Given the description of an element on the screen output the (x, y) to click on. 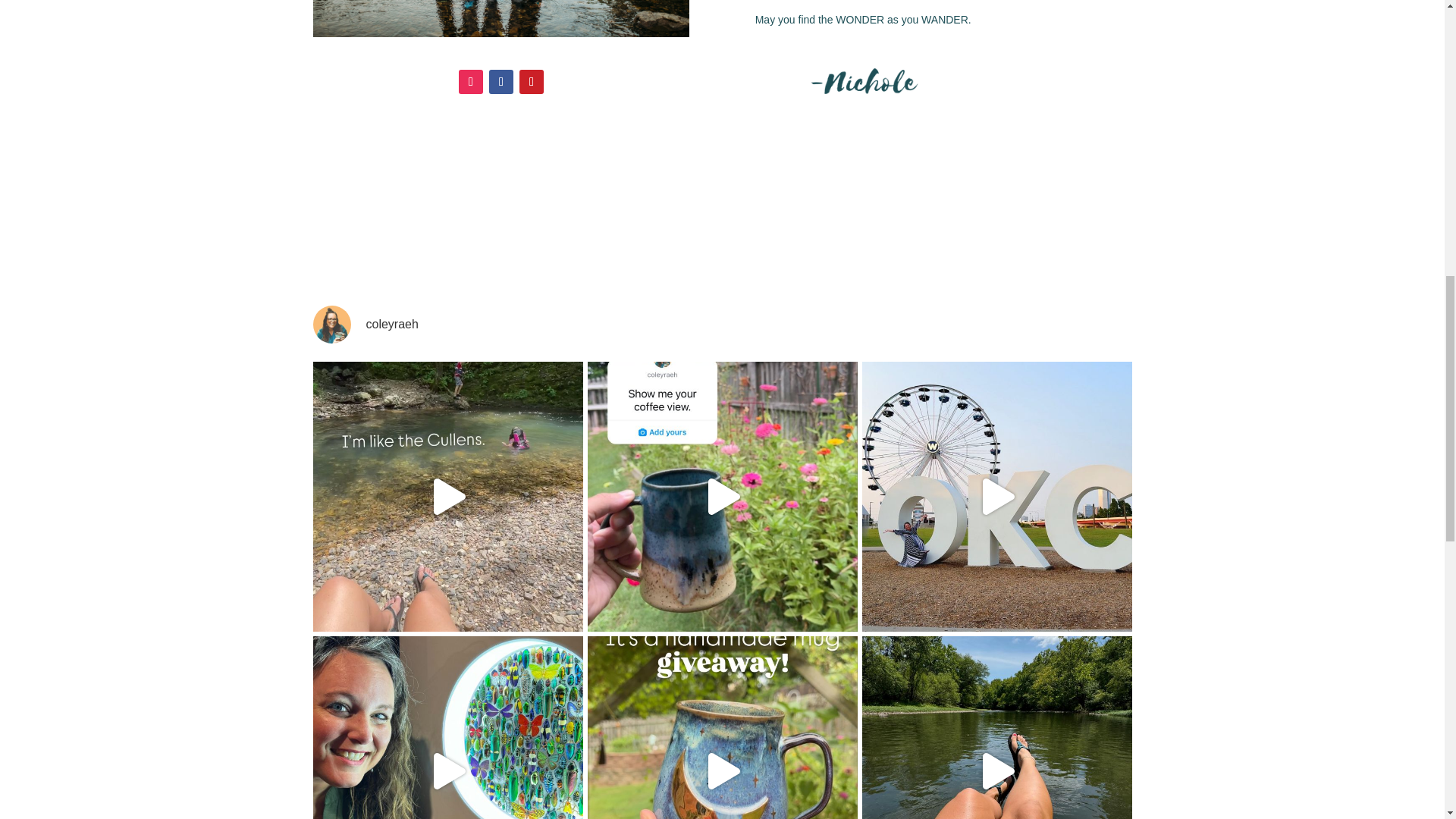
coleyraeh (722, 324)
Follow on Pinterest (531, 81)
Follow on Instagram (470, 81)
smaller 3 (500, 18)
Follow on Facebook (501, 81)
